Given the description of an element on the screen output the (x, y) to click on. 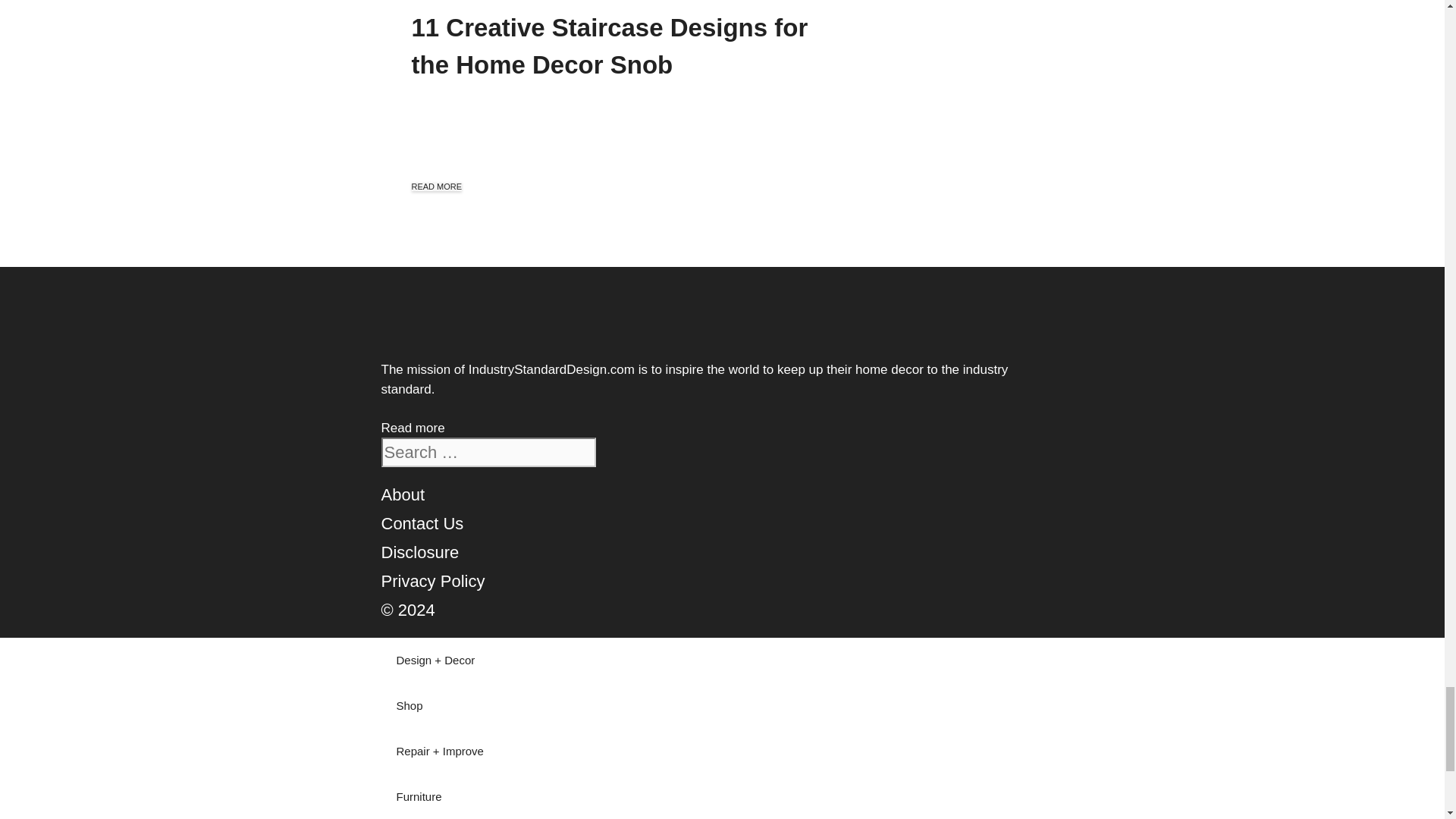
11 Creative Staircase Designs for the Home Decor Snob (609, 46)
READ MORE (435, 185)
11 Creative Staircase Designs for the Home Decor Snob (609, 46)
Search for: (487, 451)
